Given the description of an element on the screen output the (x, y) to click on. 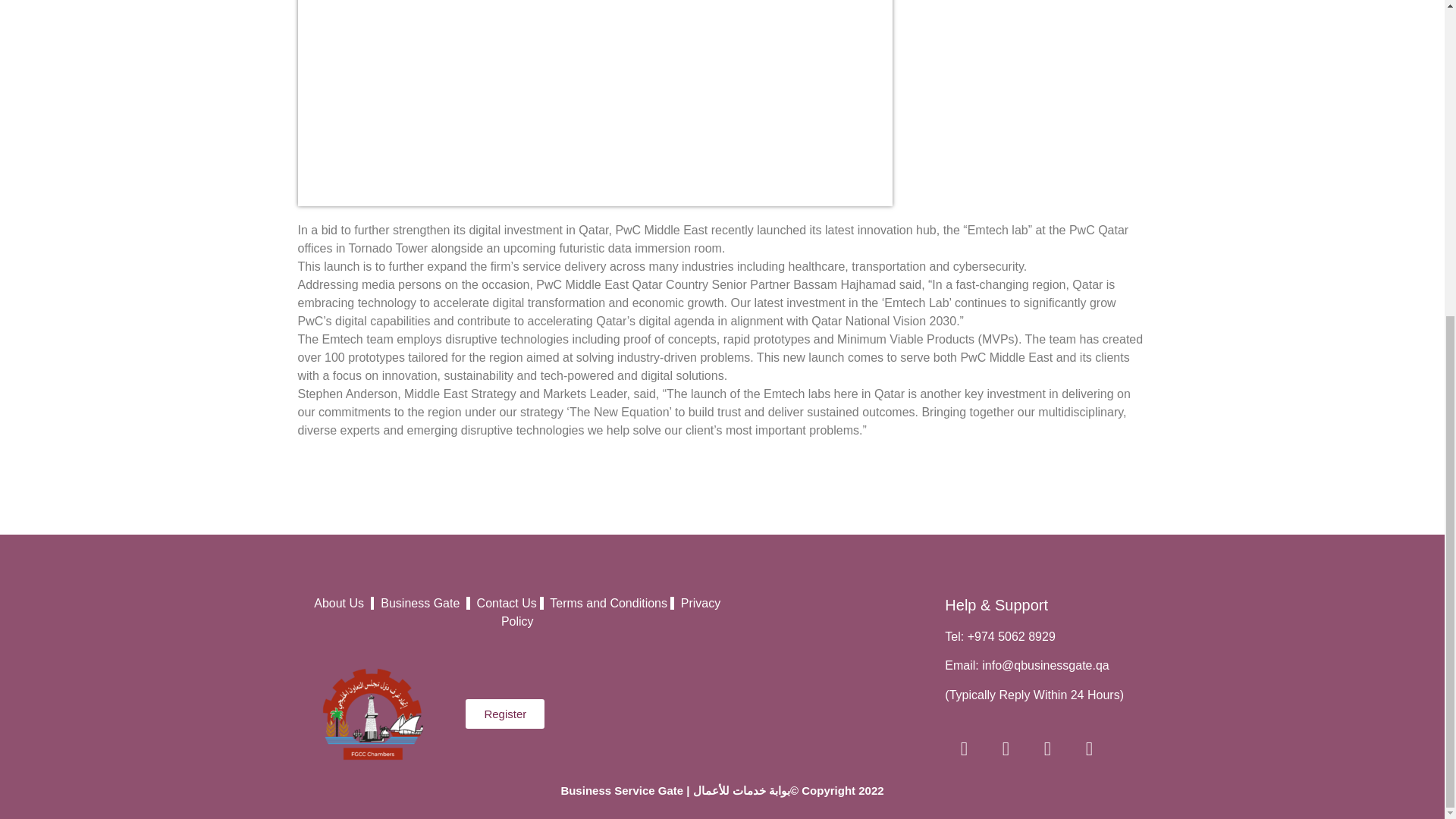
About Us   (342, 603)
Business Gate   (422, 603)
Terms and Conditions (608, 603)
Register (504, 713)
Privacy Policy (610, 612)
